Given the description of an element on the screen output the (x, y) to click on. 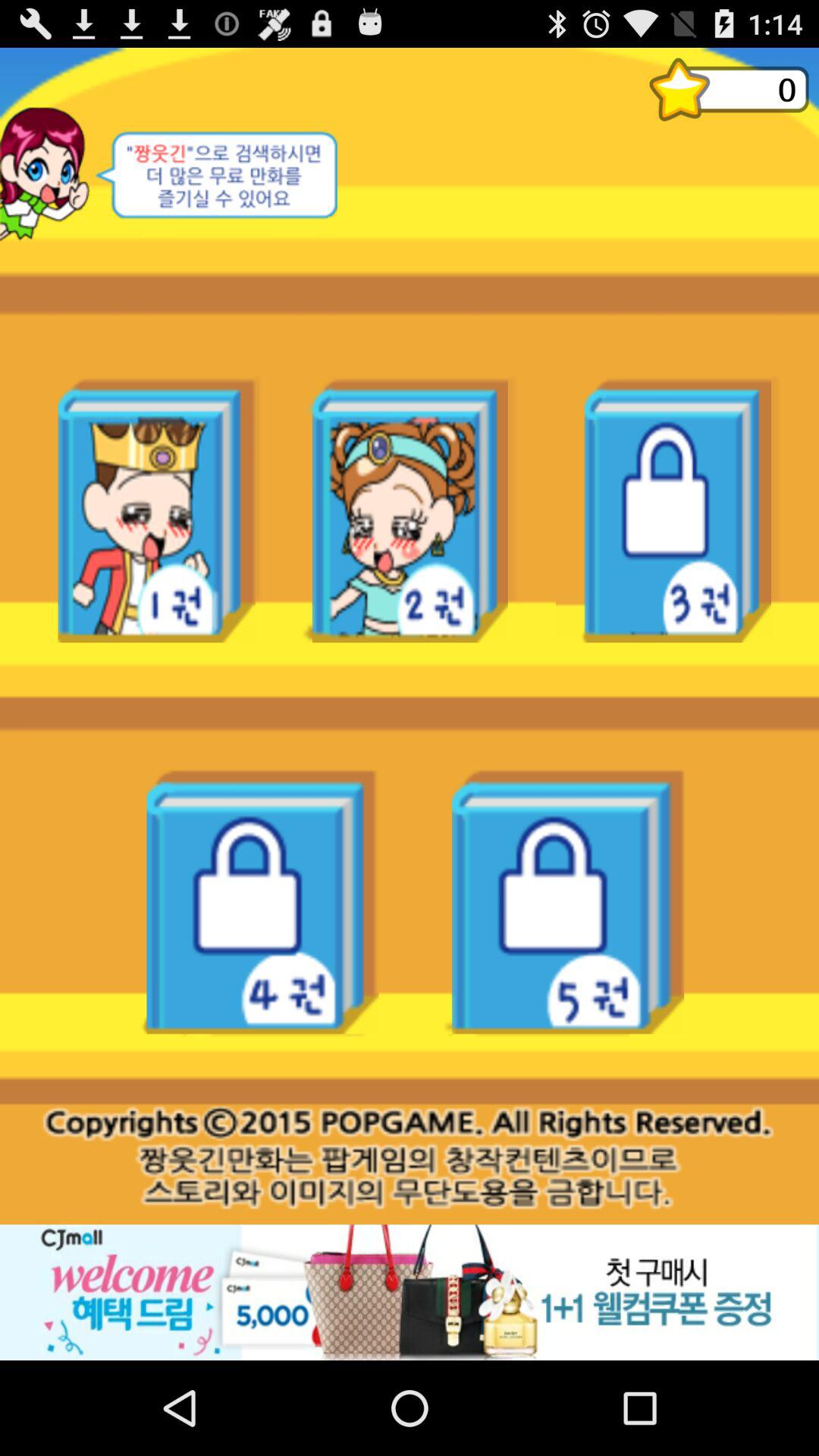
click on the third image (663, 510)
go to the first image in the second row (263, 900)
